Given the description of an element on the screen output the (x, y) to click on. 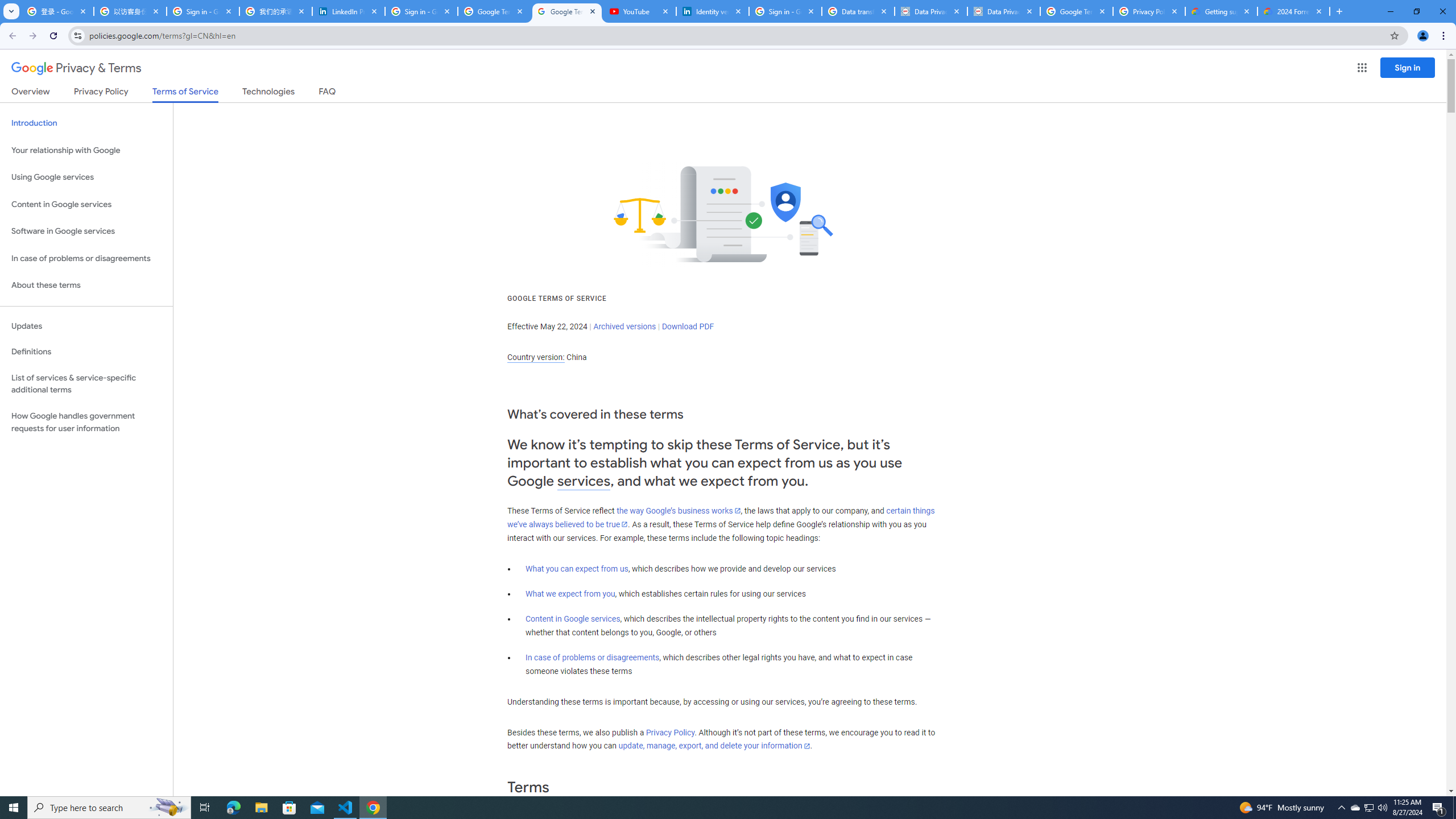
Sign in (1407, 67)
Content in Google services (572, 618)
YouTube (639, 11)
services (583, 480)
Minimize (1390, 11)
You (1422, 35)
Back (10, 35)
Forward (32, 35)
Search tabs (10, 11)
FAQ (327, 93)
Data Privacy Framework (1003, 11)
Definitions (86, 352)
Introduction (86, 122)
